Given the description of an element on the screen output the (x, y) to click on. 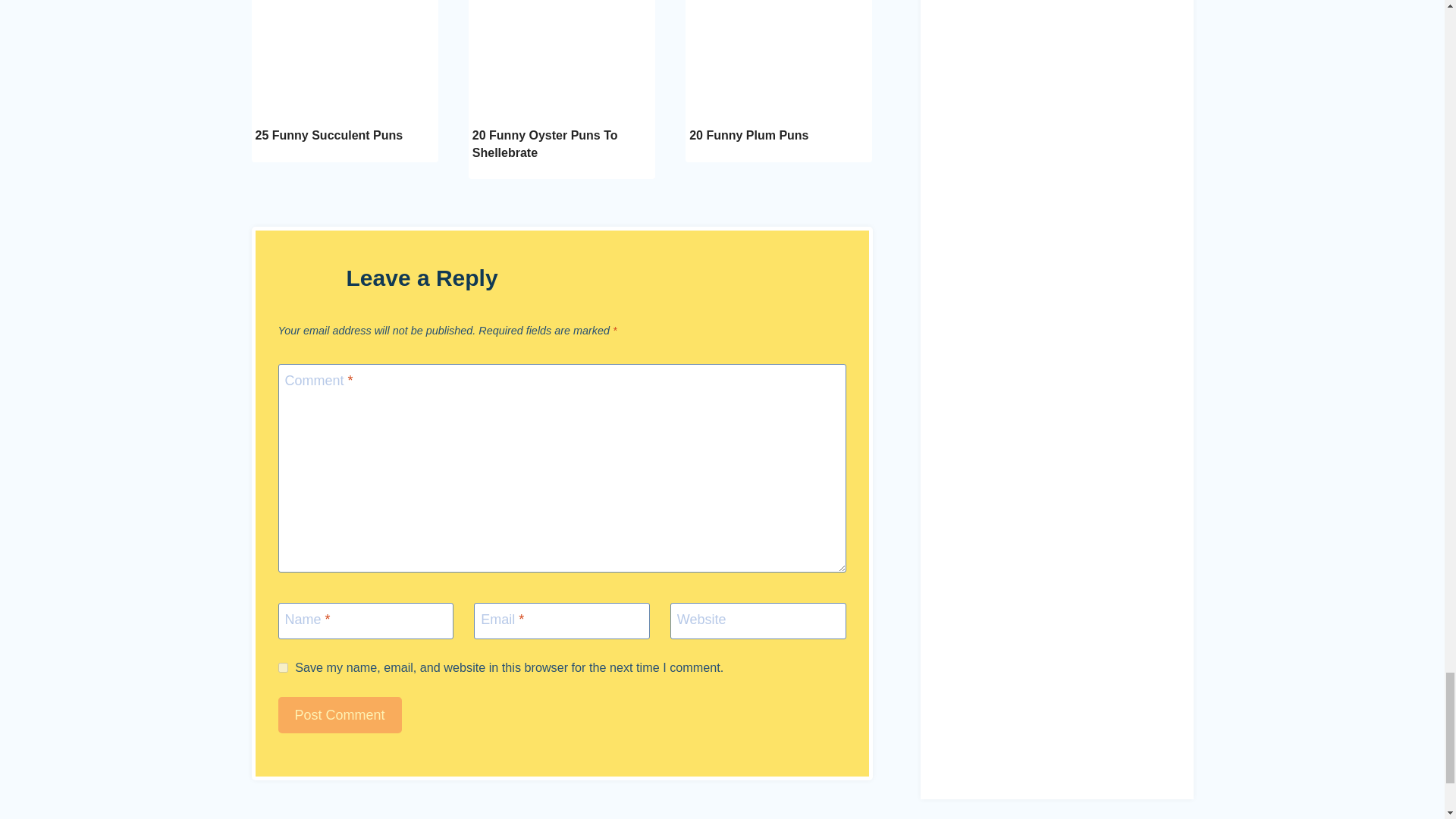
yes (282, 667)
Post Comment (339, 714)
